Given the description of an element on the screen output the (x, y) to click on. 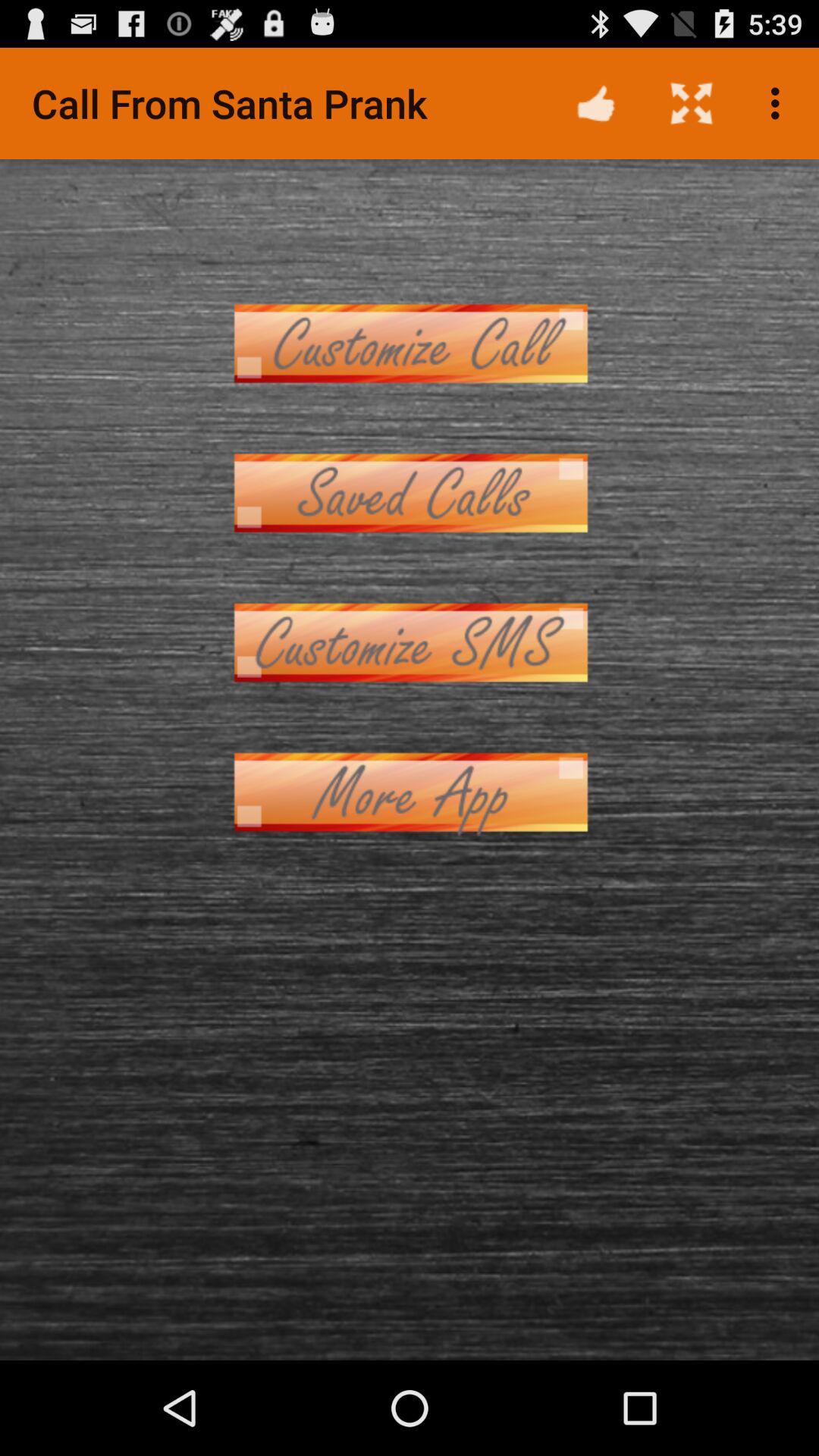
choose the item at the top (409, 343)
